Given the description of an element on the screen output the (x, y) to click on. 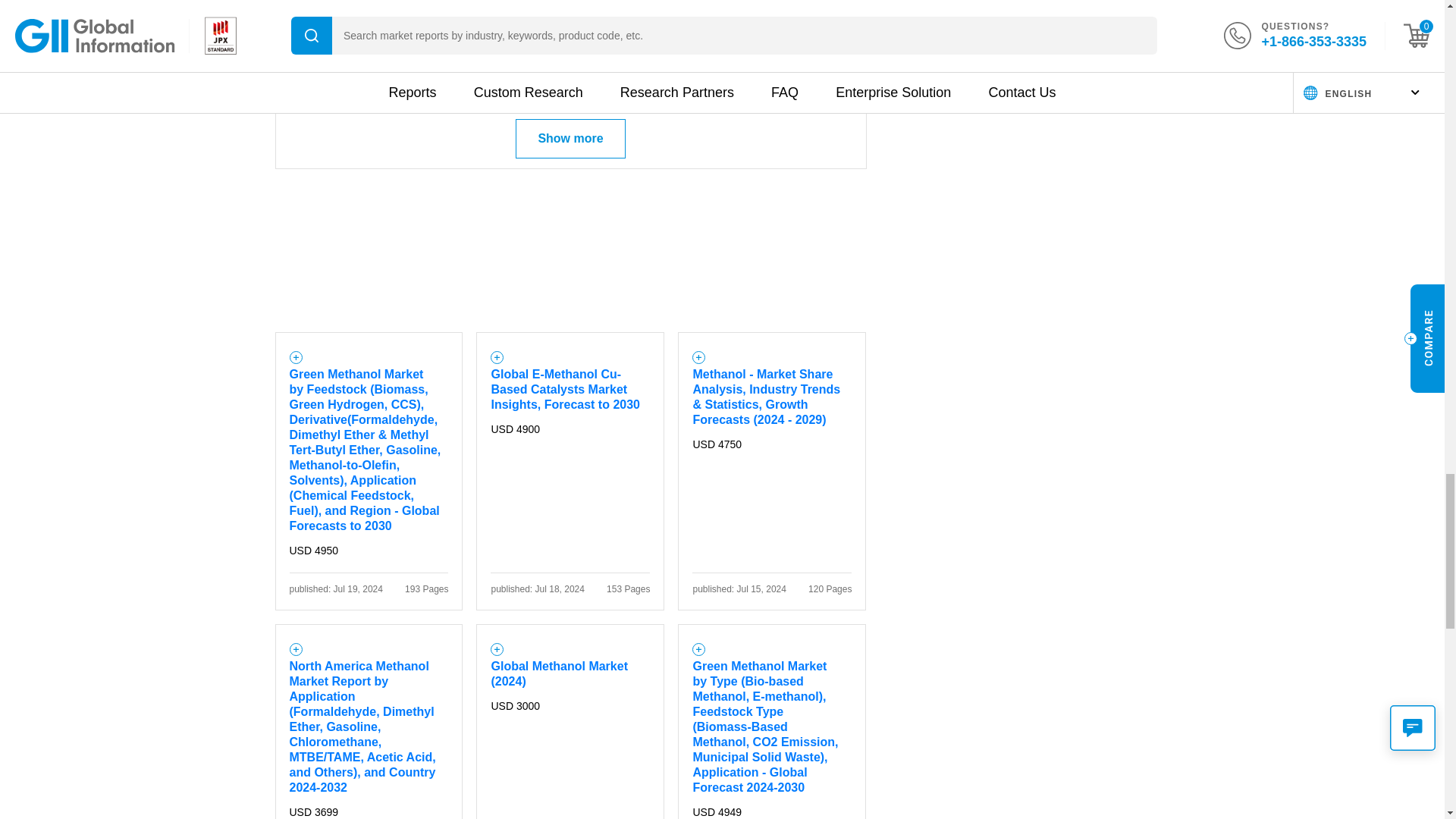
Show more (569, 138)
